Given the description of an element on the screen output the (x, y) to click on. 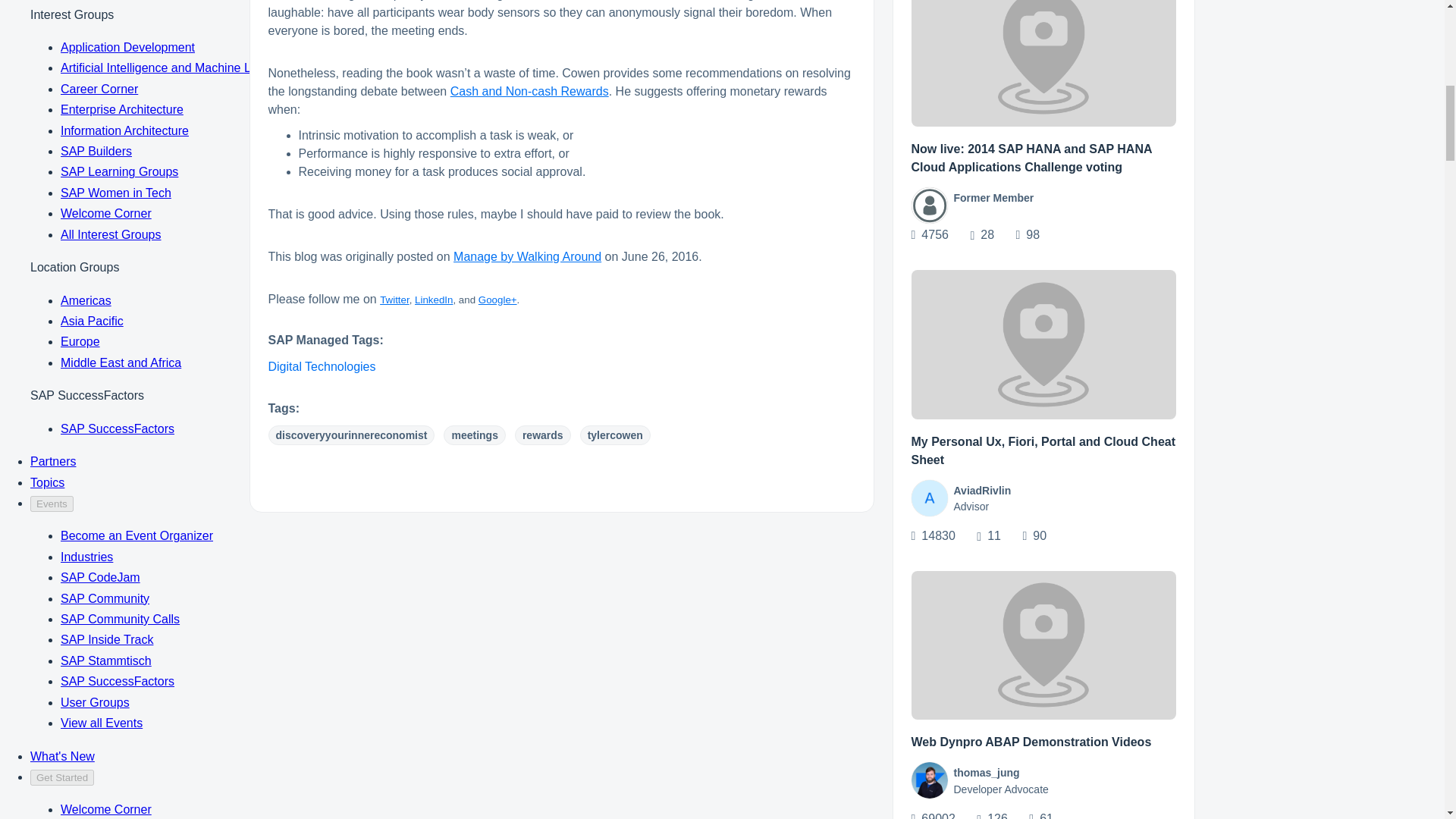
rewards (542, 435)
Manage by Walking Around (526, 256)
Digital Technologies (321, 366)
View article (1043, 63)
Twitter (394, 298)
Cash and Non-cash Rewards (528, 91)
meetings (474, 435)
LinkedIn (433, 298)
discoveryyourinnereconomist (351, 435)
tylercowen (614, 435)
